Given the description of an element on the screen output the (x, y) to click on. 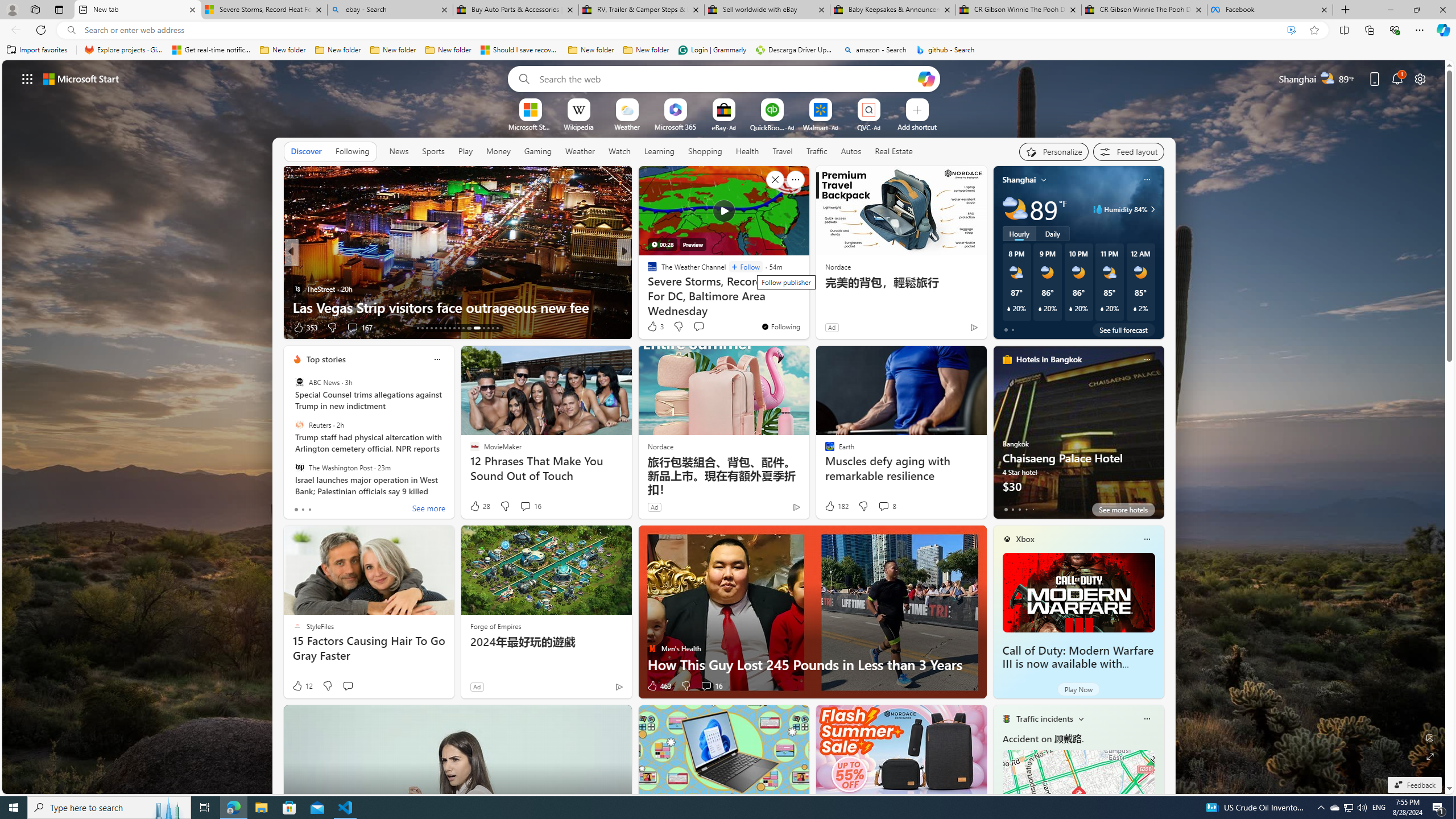
Lonely dolphin may be behind series of attacks on swimmers (807, 298)
Top stories (325, 359)
Follow (745, 266)
Sports (432, 151)
View comments 16 Comment (705, 685)
AutomationID: tab-15 (426, 328)
Shopping (705, 151)
Login | Grammarly (712, 49)
Notifications (1397, 78)
